Given the description of an element on the screen output the (x, y) to click on. 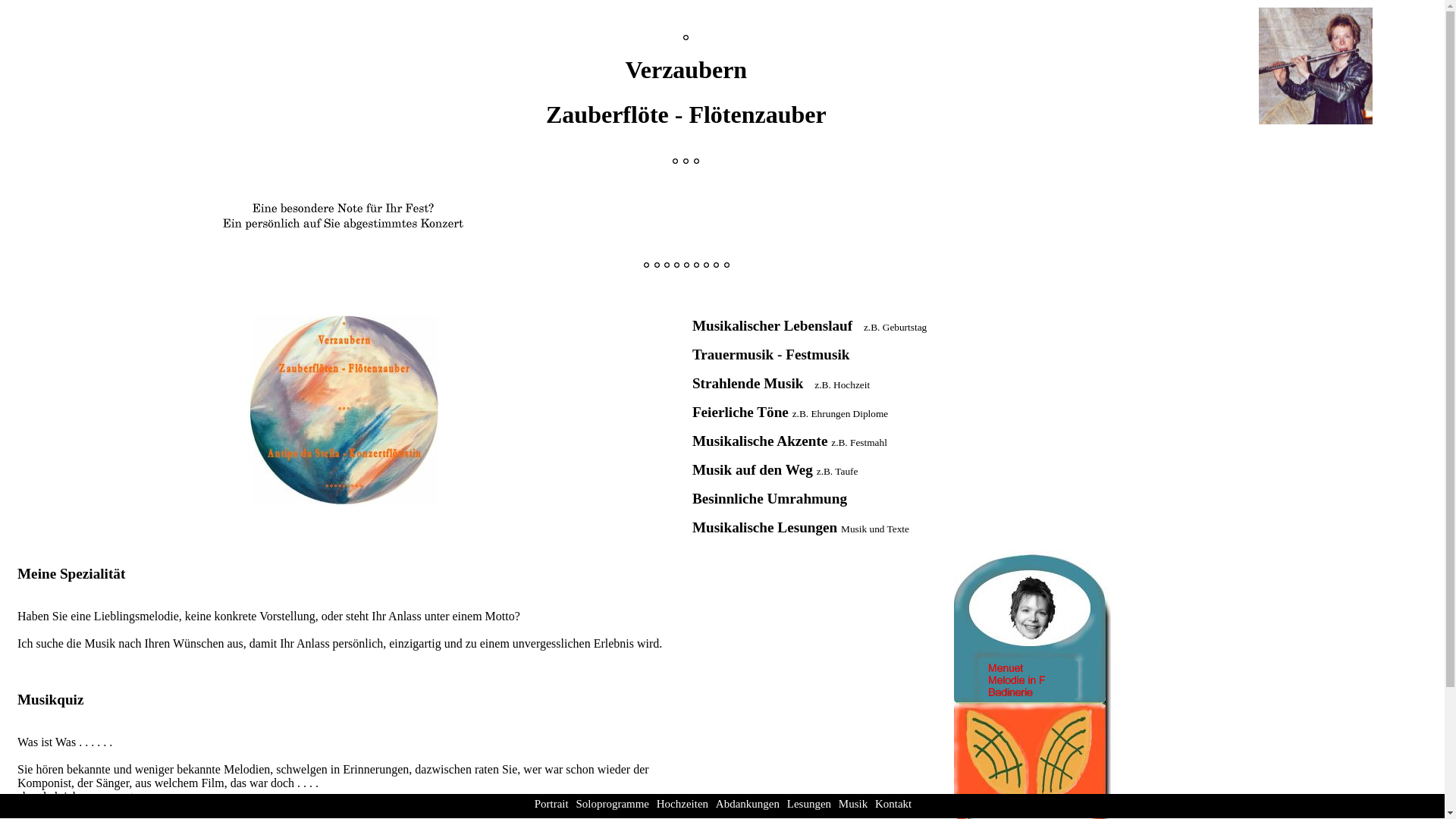
Portrait Element type: text (551, 803)
Musik Element type: text (852, 803)
Hochzeiten Element type: text (682, 803)
Soloprogramme Element type: text (612, 803)
Kontakt Element type: text (892, 803)
Abdankungen Element type: text (747, 803)
Lesungen Element type: text (808, 803)
